Given the description of an element on the screen output the (x, y) to click on. 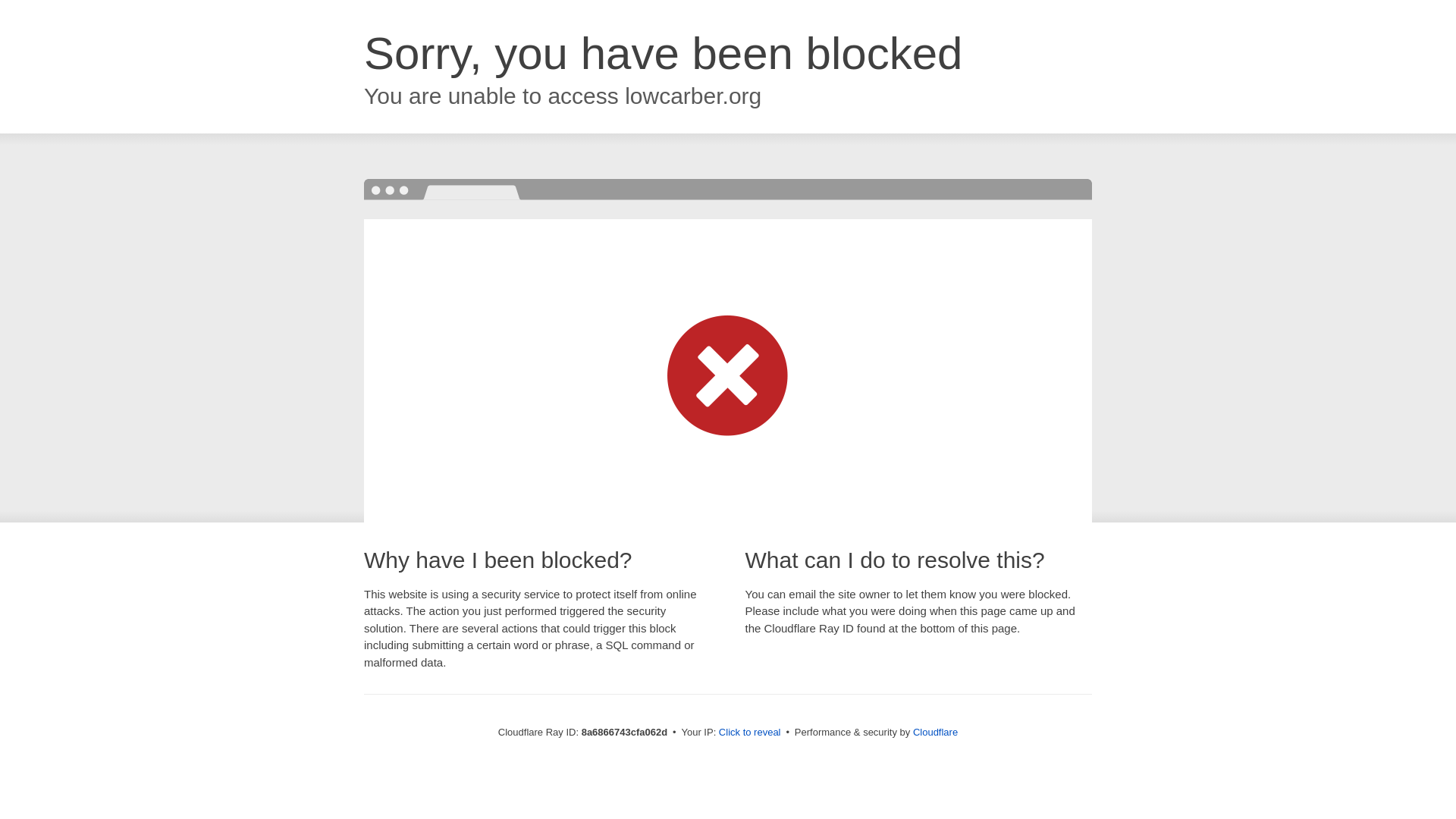
Click to reveal (749, 732)
Cloudflare (935, 731)
